Given the description of an element on the screen output the (x, y) to click on. 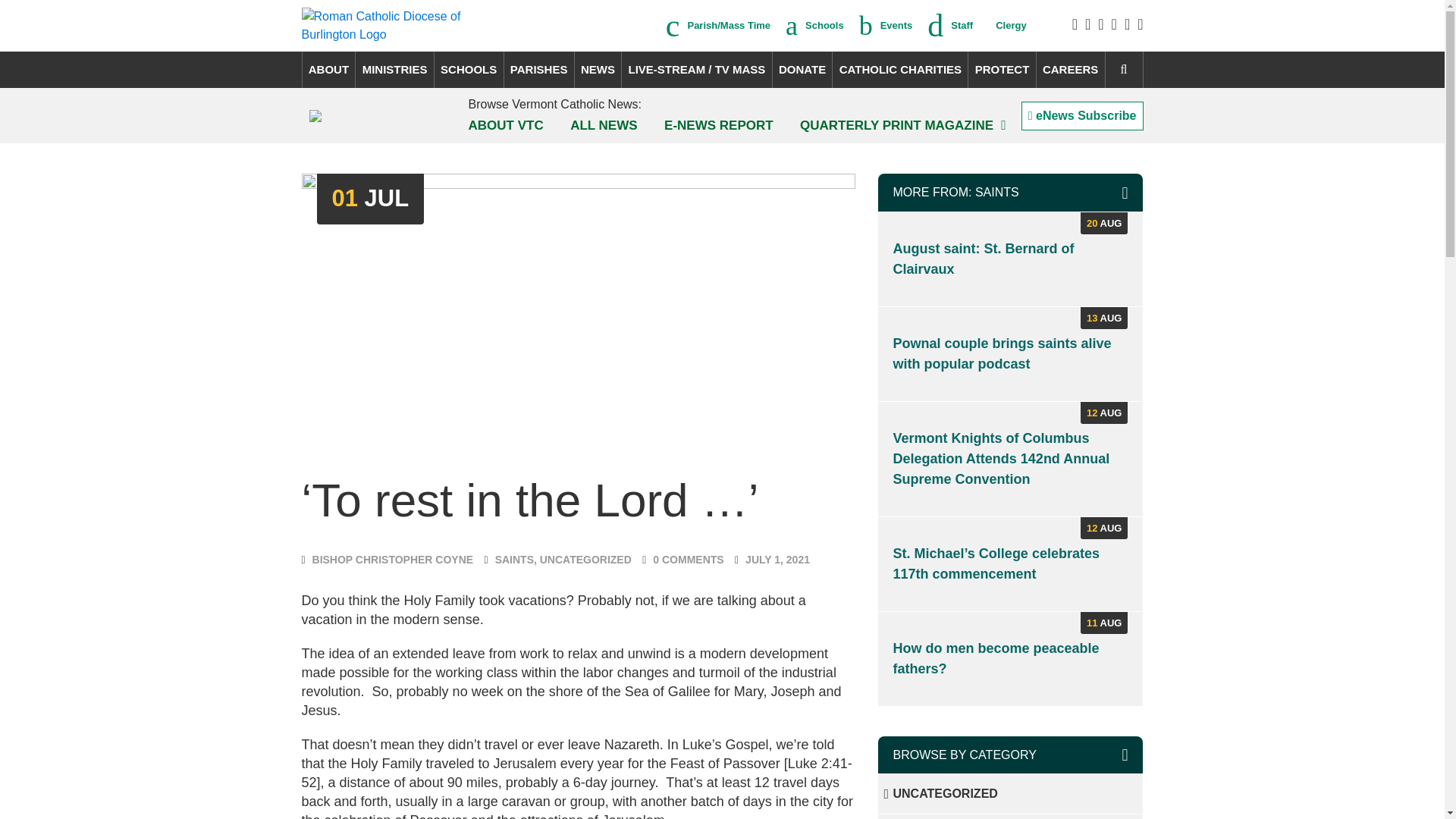
Clergy (1007, 25)
ABOUT (328, 69)
Staff (949, 25)
Events (885, 25)
Go to Roman Catholic Diocese of Burlington homepage (406, 25)
Schools (815, 25)
